Given the description of an element on the screen output the (x, y) to click on. 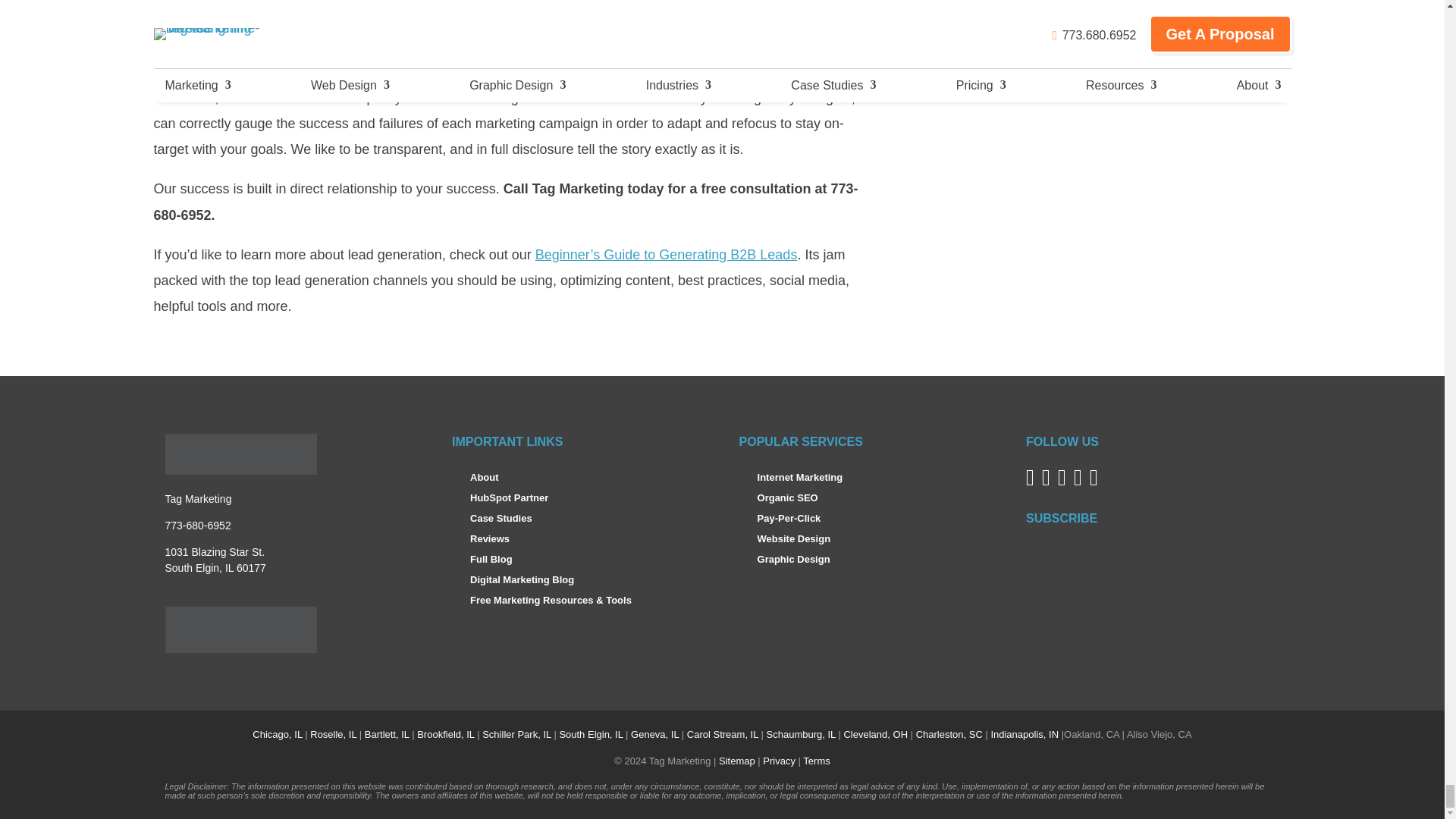
Tag Marketing - Diverse Online Marketing (241, 454)
Directions to Tag Marketing South Elgin (215, 560)
